Given the description of an element on the screen output the (x, y) to click on. 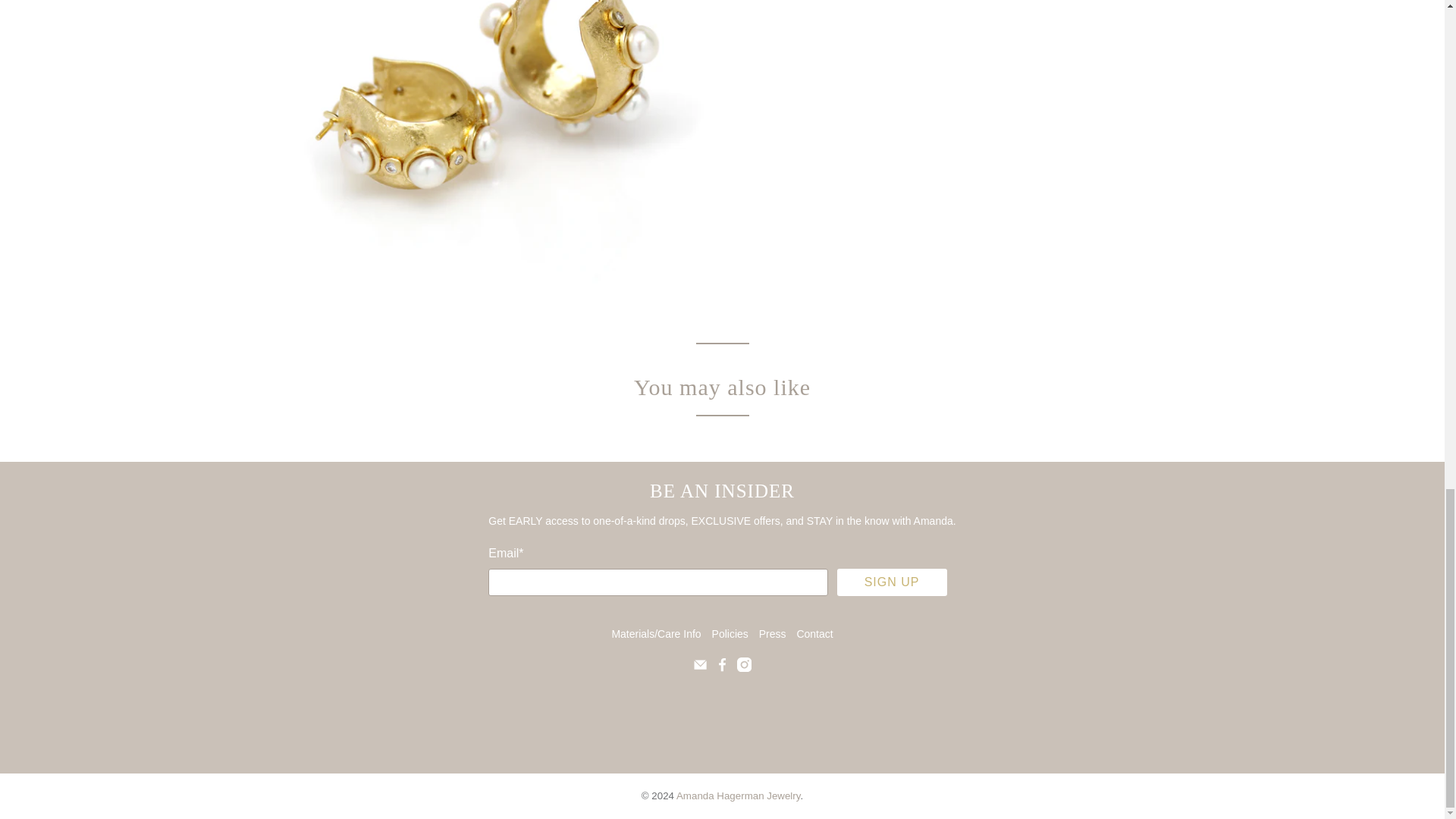
Amanda Hagerman Jewelry on Facebook (721, 667)
Amanda Hagerman Jewelry on Instagram (743, 667)
Amanda Hagerman Jewelry (722, 716)
Email Amanda Hagerman Jewelry (700, 667)
